Given the description of an element on the screen output the (x, y) to click on. 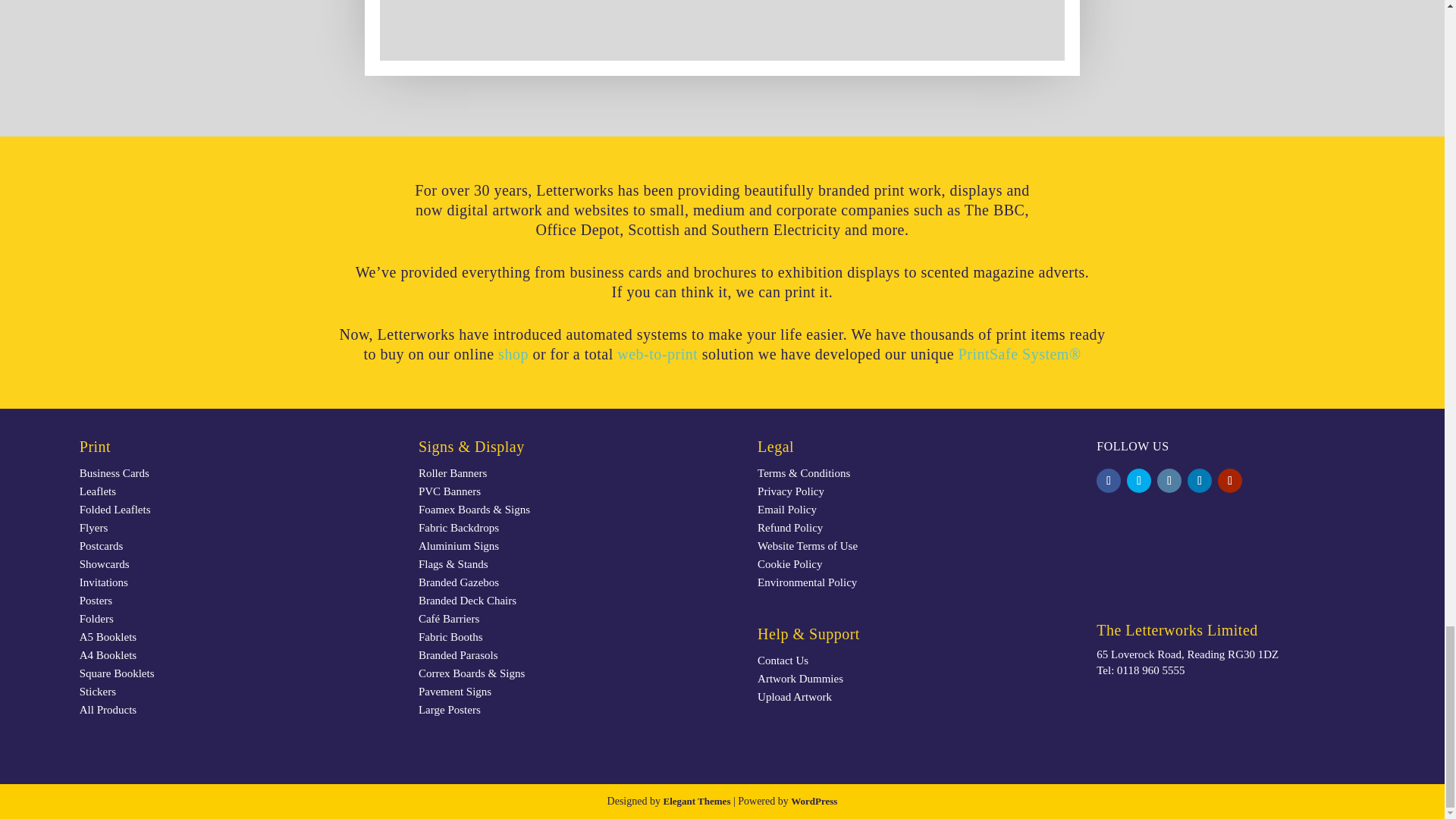
Facebook (1108, 480)
Youtube (1229, 480)
Premium WordPress Themes (696, 800)
Instagram (1168, 480)
Twitter (1138, 480)
letterworks Introduction (722, 30)
LinkedIn (1199, 480)
